Given the description of an element on the screen output the (x, y) to click on. 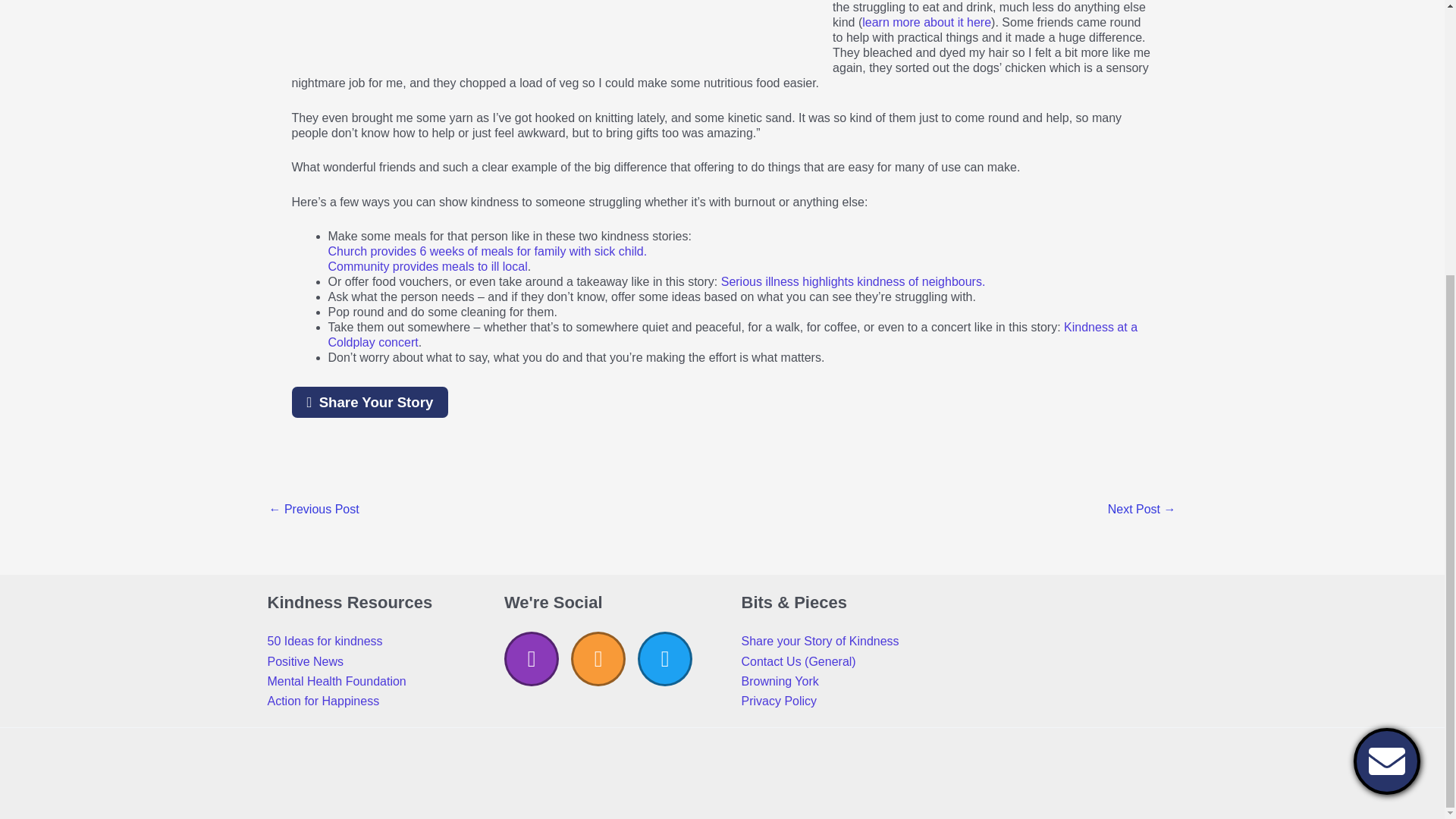
Follow us on Twitter (665, 658)
Follow us on Instagram (531, 658)
50 Ideas for kindness (323, 640)
Serious illness highlights kindness of neighbours. (852, 281)
Subscribe to our RSS2 feed (598, 658)
Church provides 6 weeks of meals for family with sick child. (486, 250)
Share Your Story (369, 401)
learn more about it here (926, 21)
Friend tiles splashback (1142, 510)
Community provides meals to ill local (427, 266)
